Given the description of an element on the screen output the (x, y) to click on. 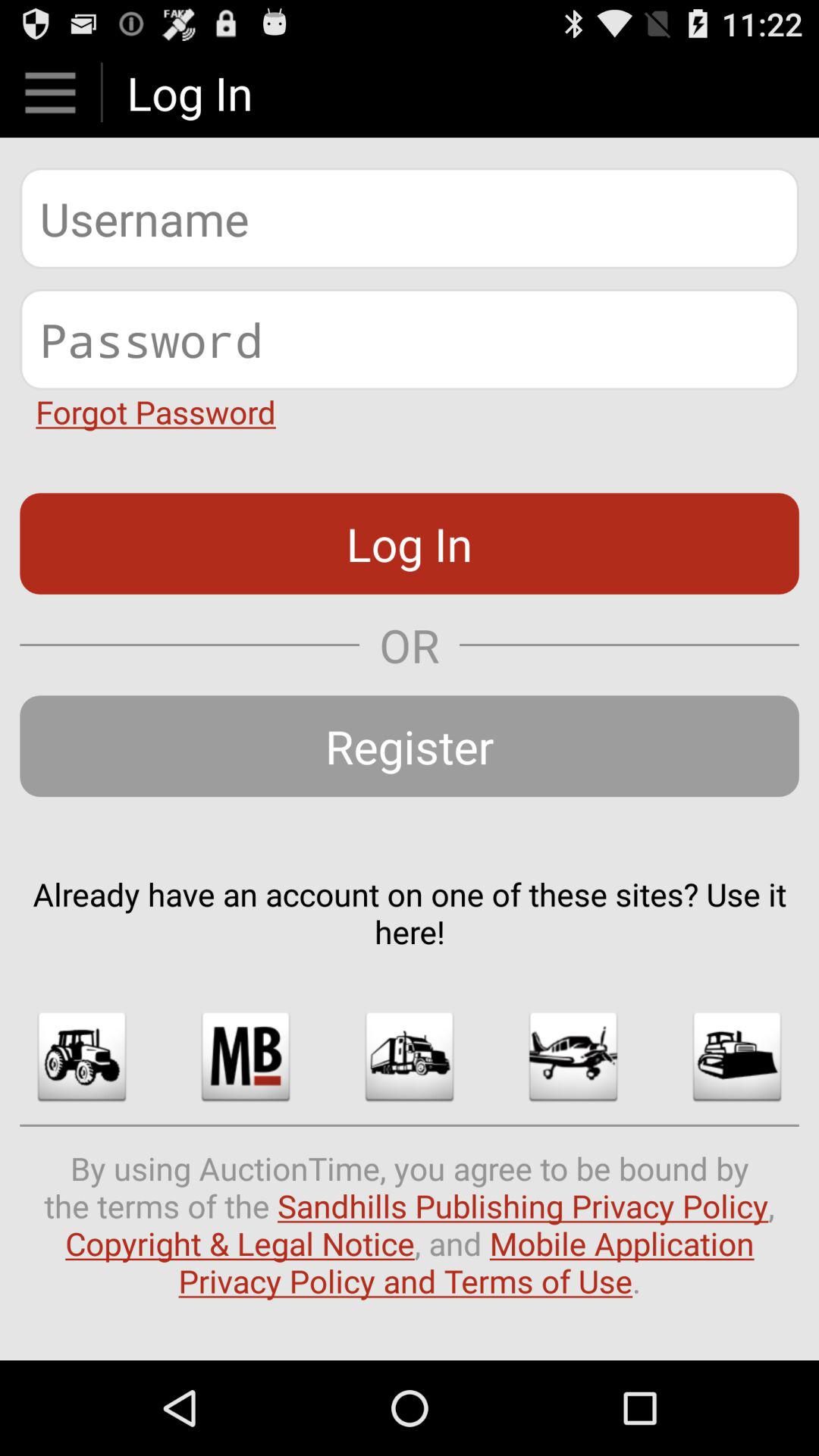
press forgot password item (155, 411)
